Given the description of an element on the screen output the (x, y) to click on. 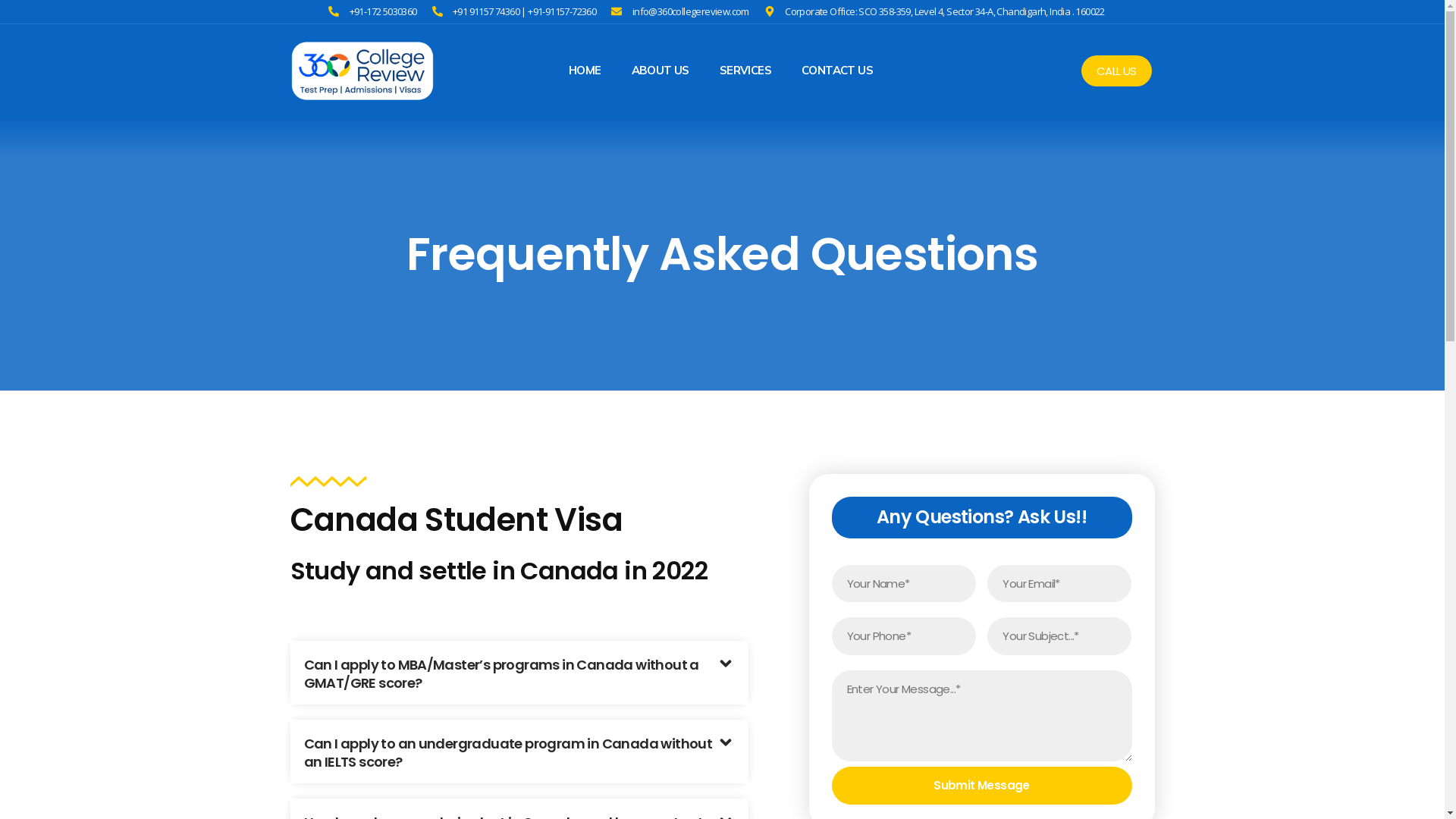
+91-172 5030360 Element type: text (372, 11)
ABOUT US Element type: text (660, 70)
Submit Message Element type: text (981, 785)
+91 91157 74360 | +91-91157-72360 Element type: text (514, 11)
HOME Element type: text (584, 70)
info@360collegereview.com Element type: text (680, 11)
CONTACT US Element type: text (836, 70)
SERVICES Element type: text (745, 70)
CALL US Element type: text (1116, 71)
